Given the description of an element on the screen output the (x, y) to click on. 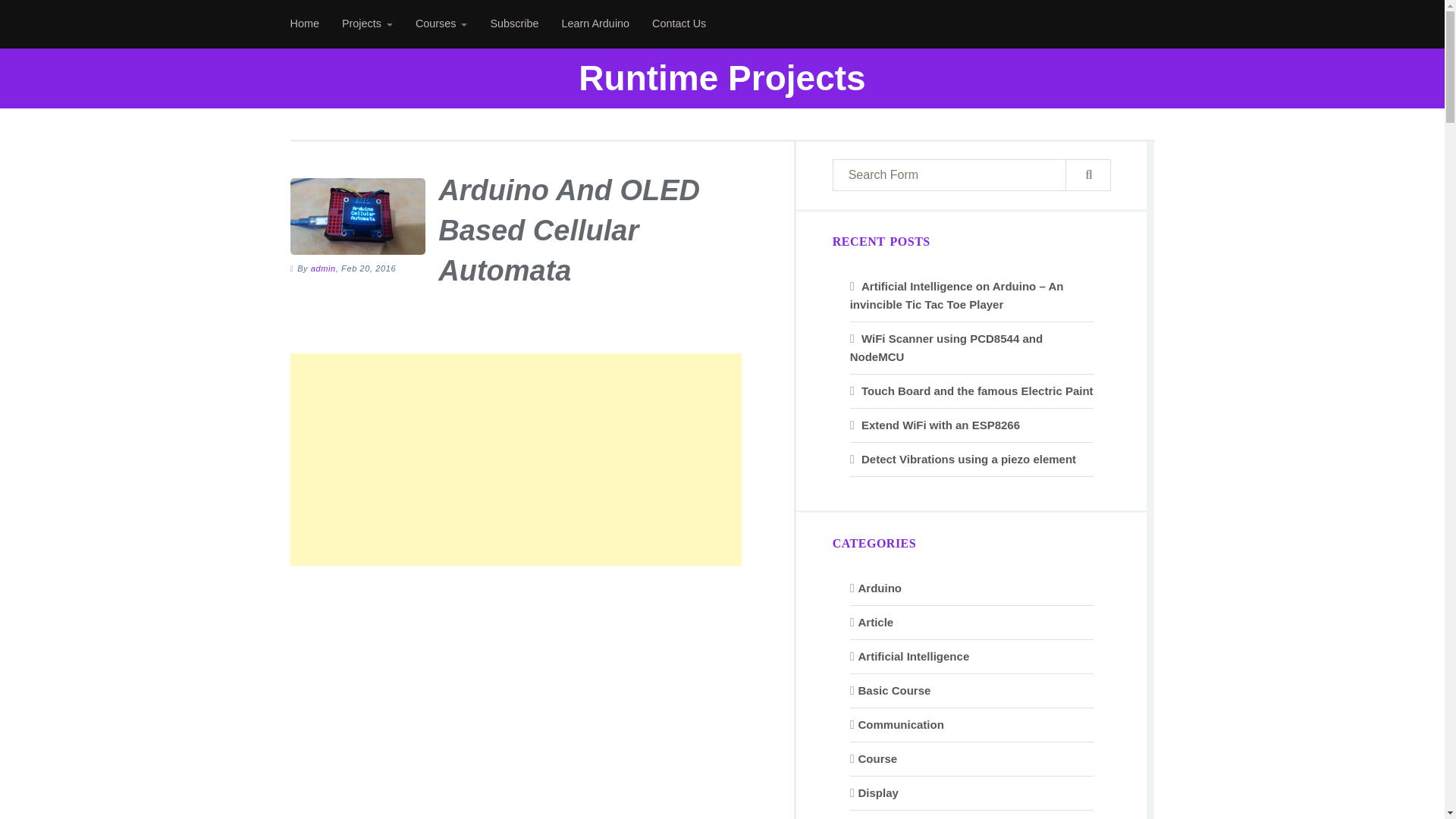
Subscribe (514, 24)
Advertisement (515, 689)
Home (304, 24)
Runtime Projects (721, 78)
View all posts by admin (323, 267)
Courses (441, 24)
Contact Us (678, 24)
Learn Arduino (595, 24)
Runtime Projects (721, 78)
Projects (367, 24)
